Given the description of an element on the screen output the (x, y) to click on. 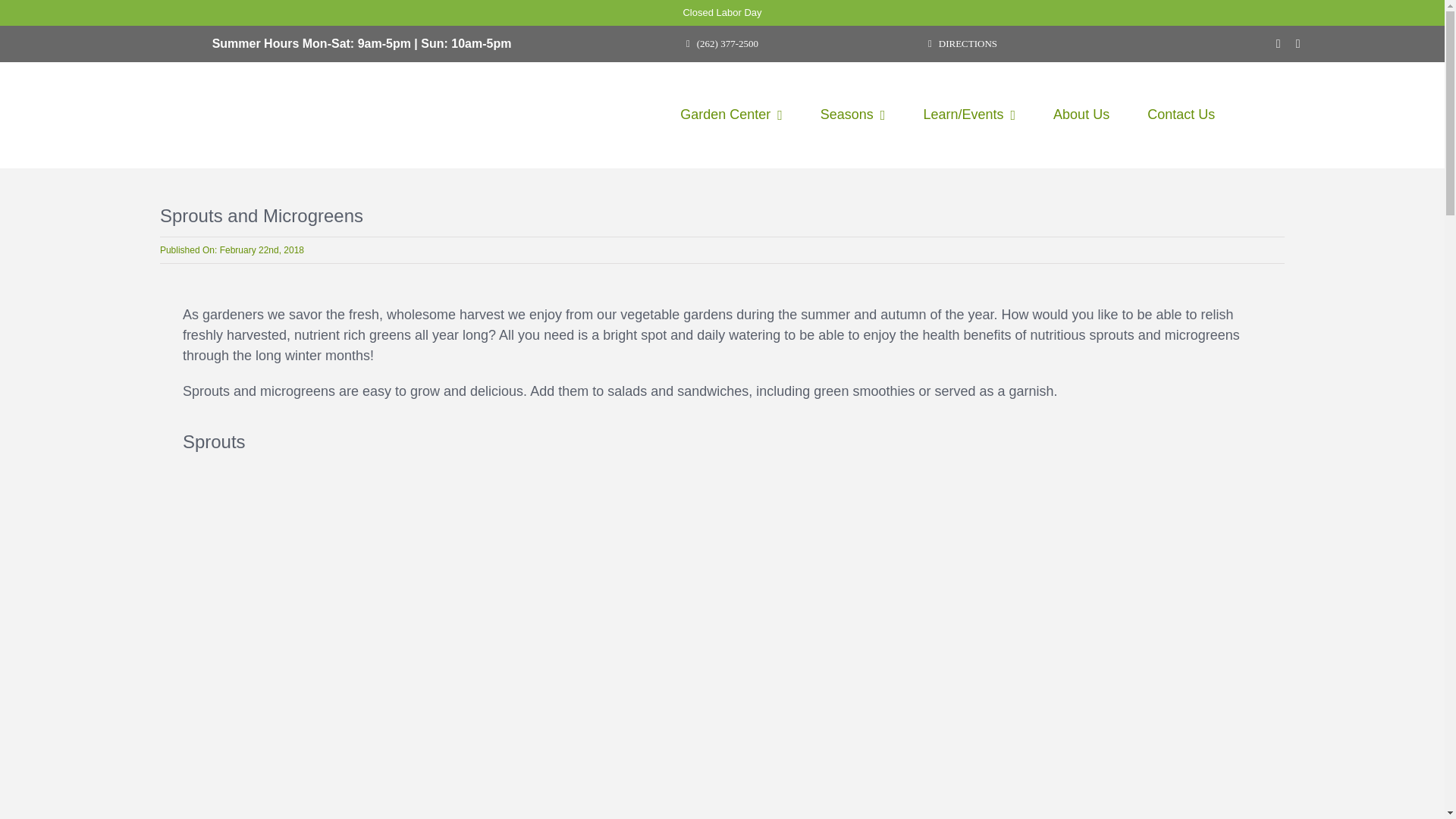
Contact Us (1180, 114)
Seasons (853, 114)
Garden Center (731, 114)
DIRECTIONS (961, 42)
About Us (1080, 114)
